Given the description of an element on the screen output the (x, y) to click on. 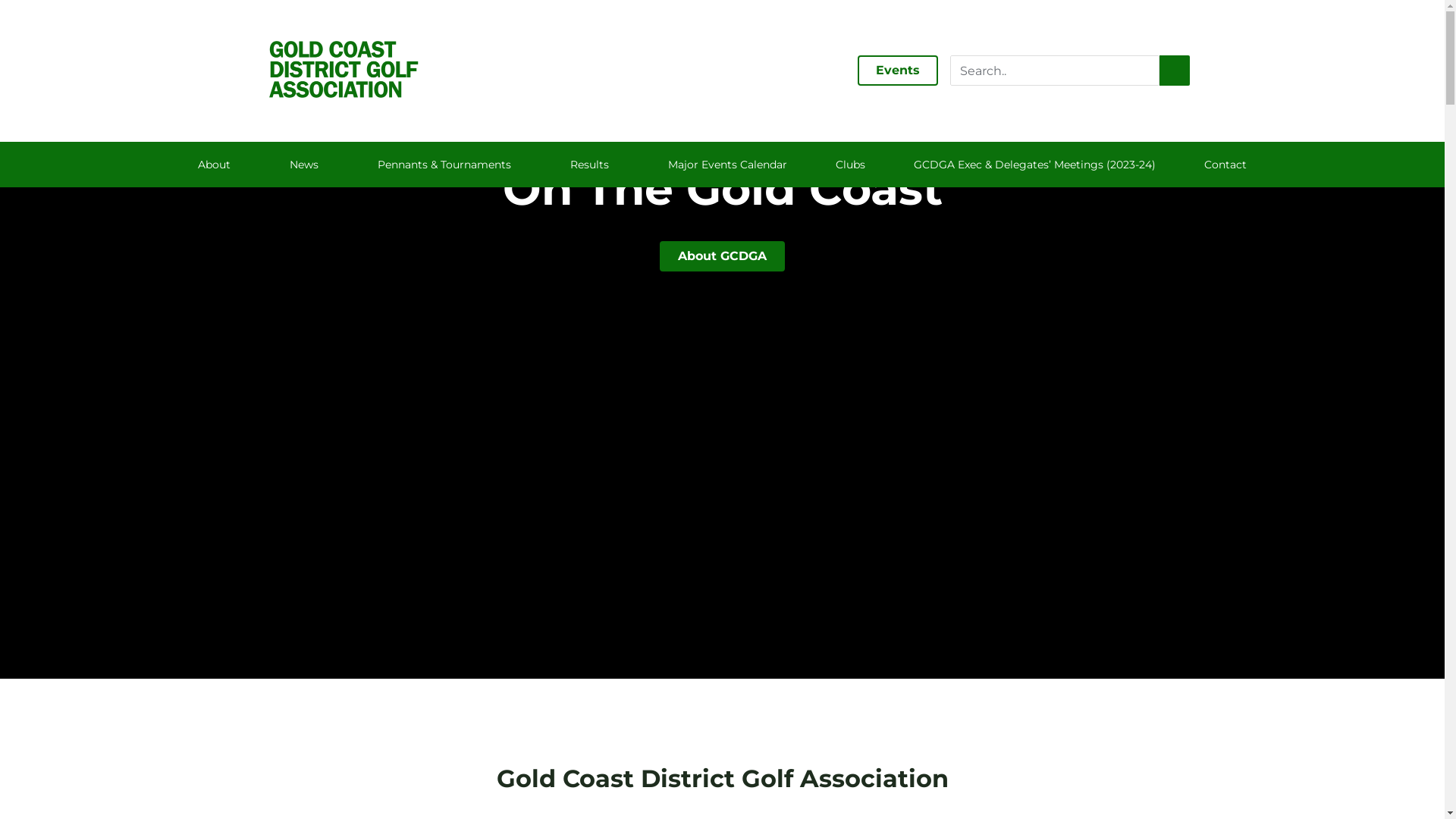
Events Element type: text (896, 70)
About GCDGA Element type: text (721, 256)
About Element type: text (219, 164)
Contact Element type: text (1224, 164)
News Element type: text (309, 164)
Clubs Element type: text (850, 164)
Pennants & Tournaments Element type: text (449, 164)
Results Element type: text (594, 164)
Major Events Calendar Element type: text (727, 164)
